Given the description of an element on the screen output the (x, y) to click on. 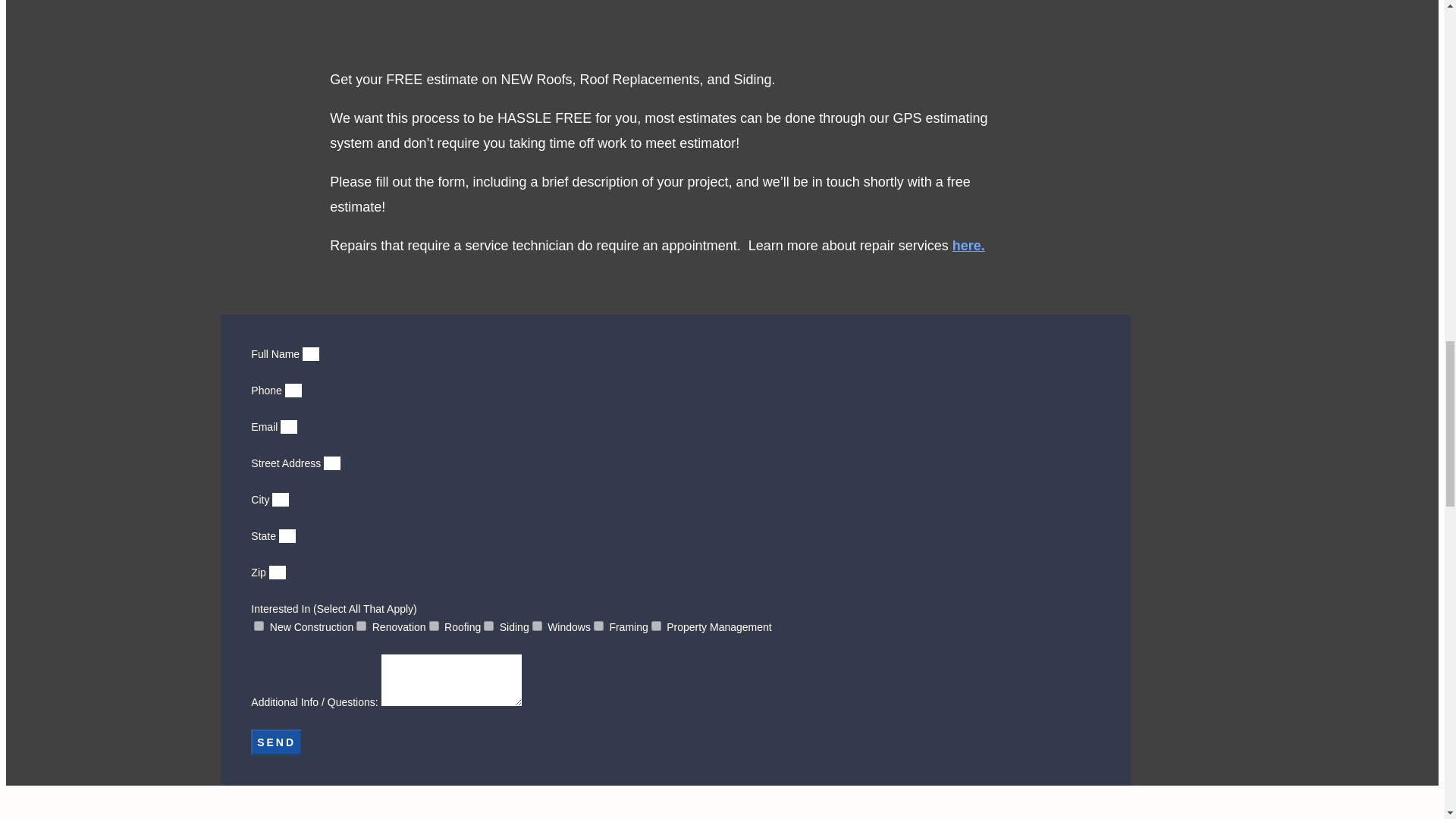
Renovation (361, 625)
Property Management (655, 625)
Siding (488, 625)
Windows (536, 625)
New Construction (258, 625)
Framing (599, 625)
Roofing (434, 625)
